Given the description of an element on the screen output the (x, y) to click on. 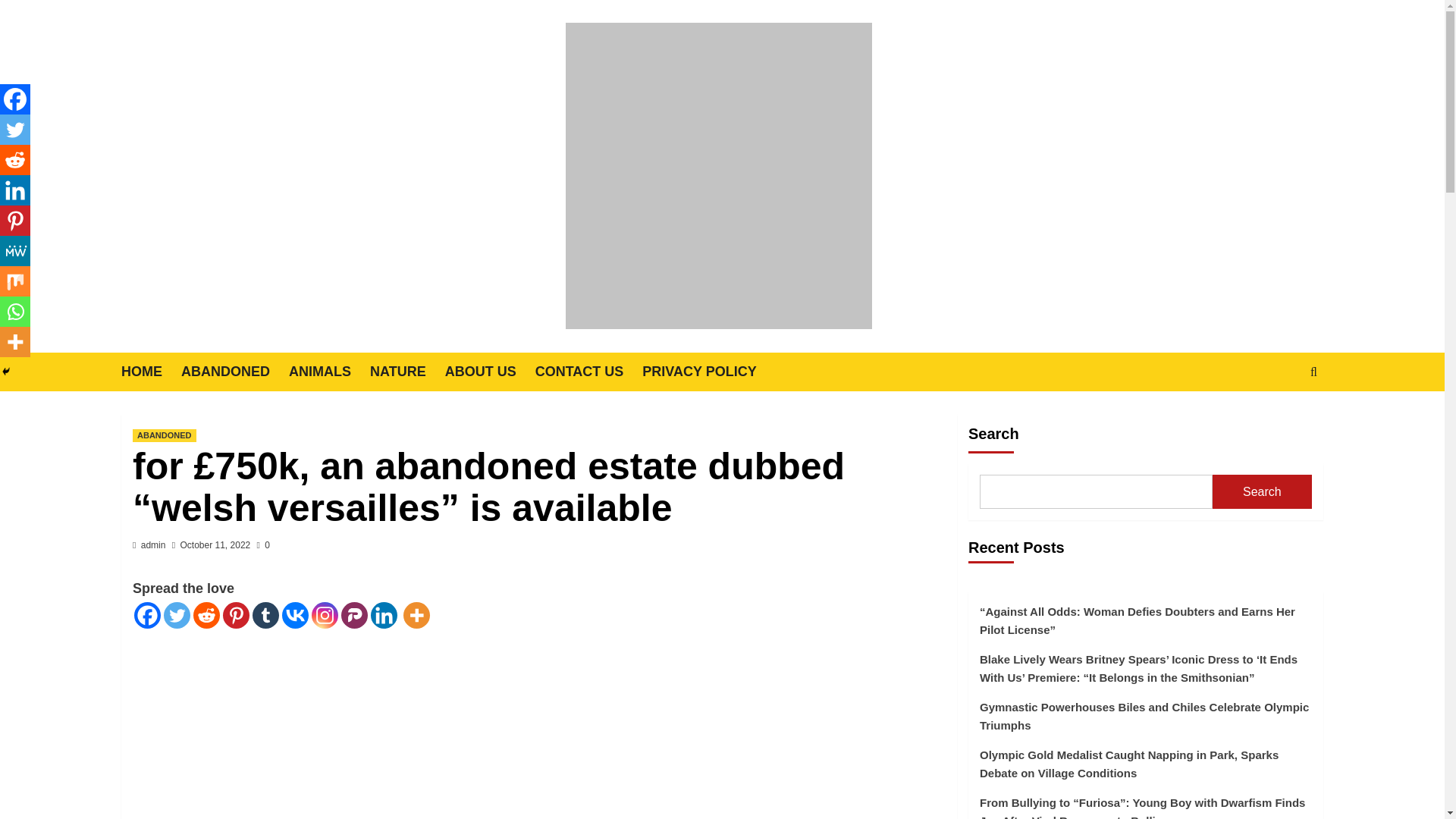
Search (1278, 418)
Parler (354, 614)
Facebook (146, 614)
Pinterest (235, 614)
Tumblr (265, 614)
PRIVACY POLICY (708, 371)
Linkedin (384, 614)
More (416, 614)
Instagram (324, 614)
0 (263, 544)
